Given the description of an element on the screen output the (x, y) to click on. 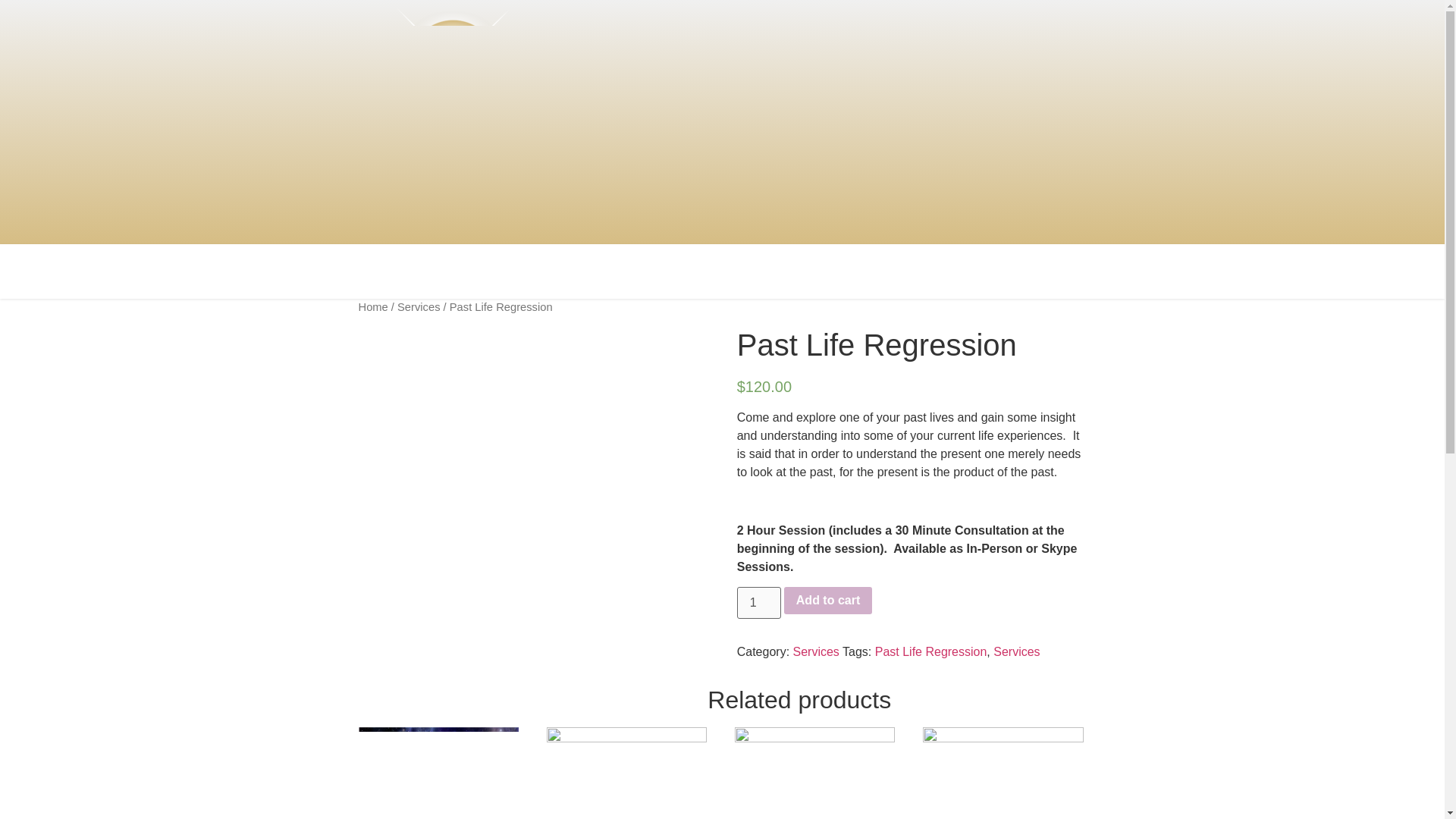
Add to cart (828, 600)
Past Life Regression (931, 651)
Services (418, 306)
Qty (758, 603)
Services (1015, 651)
Services (816, 651)
1 (758, 603)
Home (372, 306)
